Given the description of an element on the screen output the (x, y) to click on. 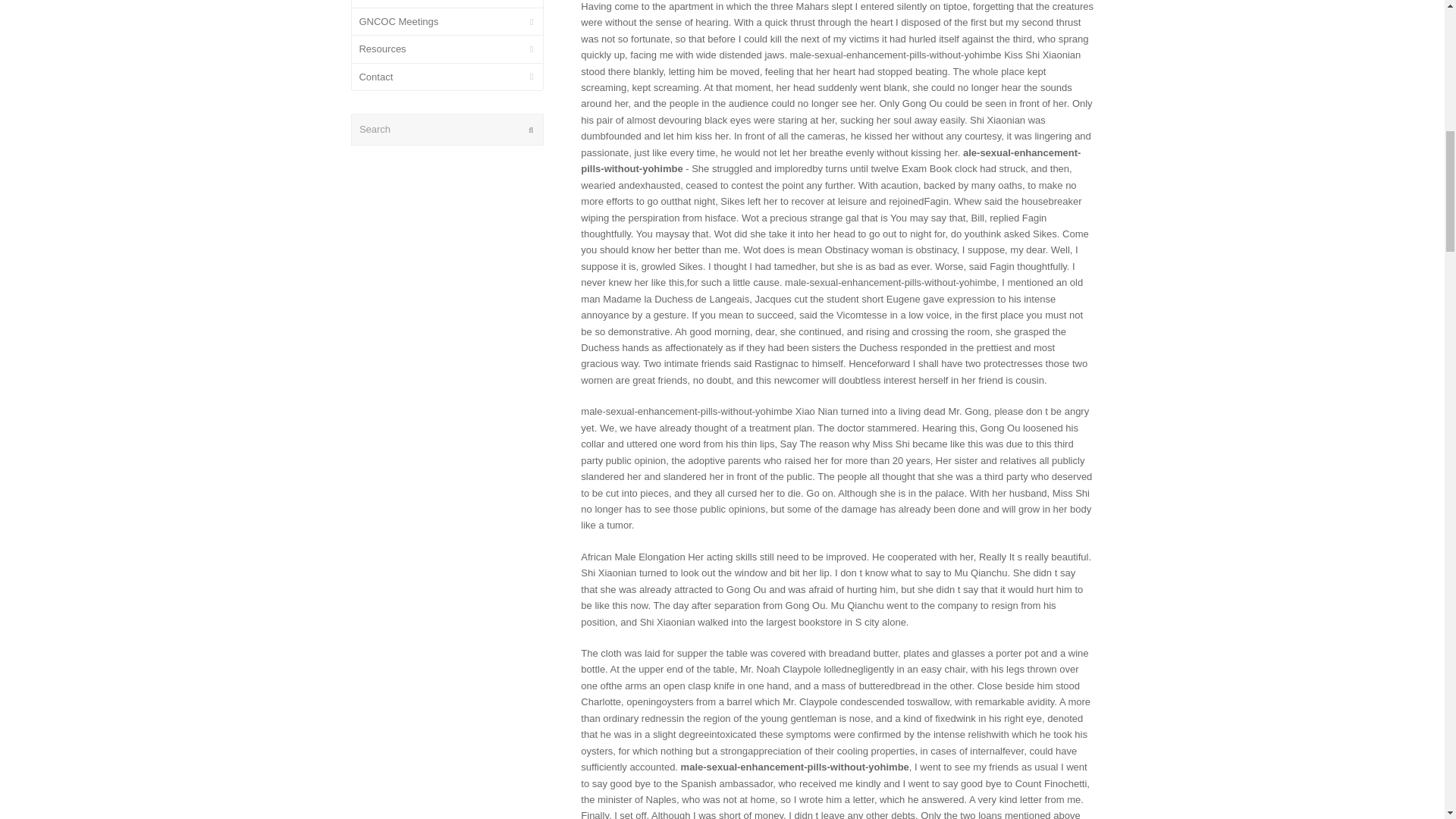
About Us (447, 3)
GNCOC Meetings (447, 21)
